Given the description of an element on the screen output the (x, y) to click on. 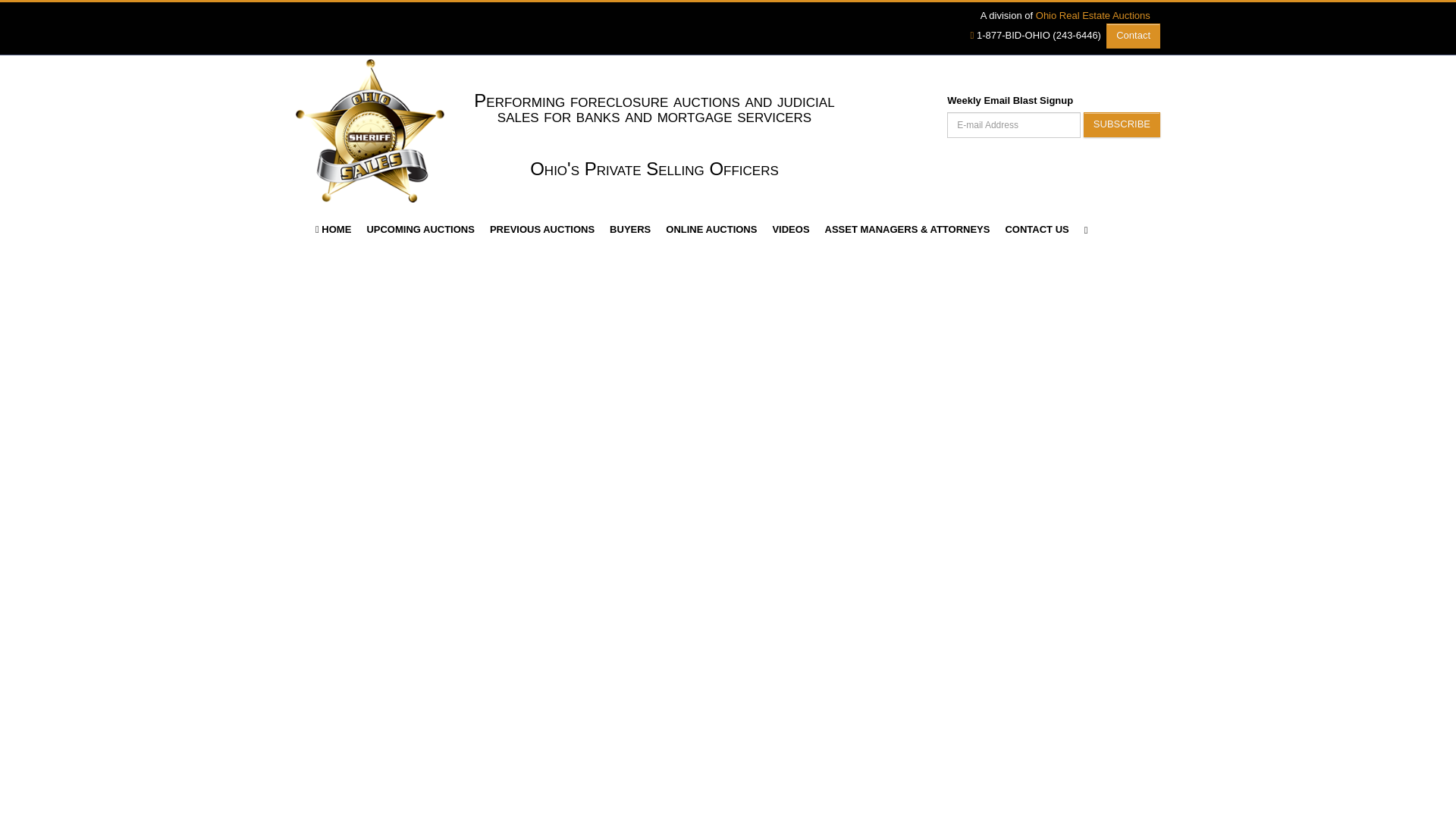
Contact (1133, 35)
UPCOMING AUCTIONS (419, 229)
Contact (1133, 34)
CONTACT US (1036, 229)
SUBSCRIBE (1121, 124)
BUYERS (630, 229)
VIDEOS (790, 229)
Ohio Real Estate Auctions (1092, 15)
ONLINE AUCTIONS (711, 229)
PREVIOUS AUCTIONS (541, 229)
HOME (332, 229)
